Given the description of an element on the screen output the (x, y) to click on. 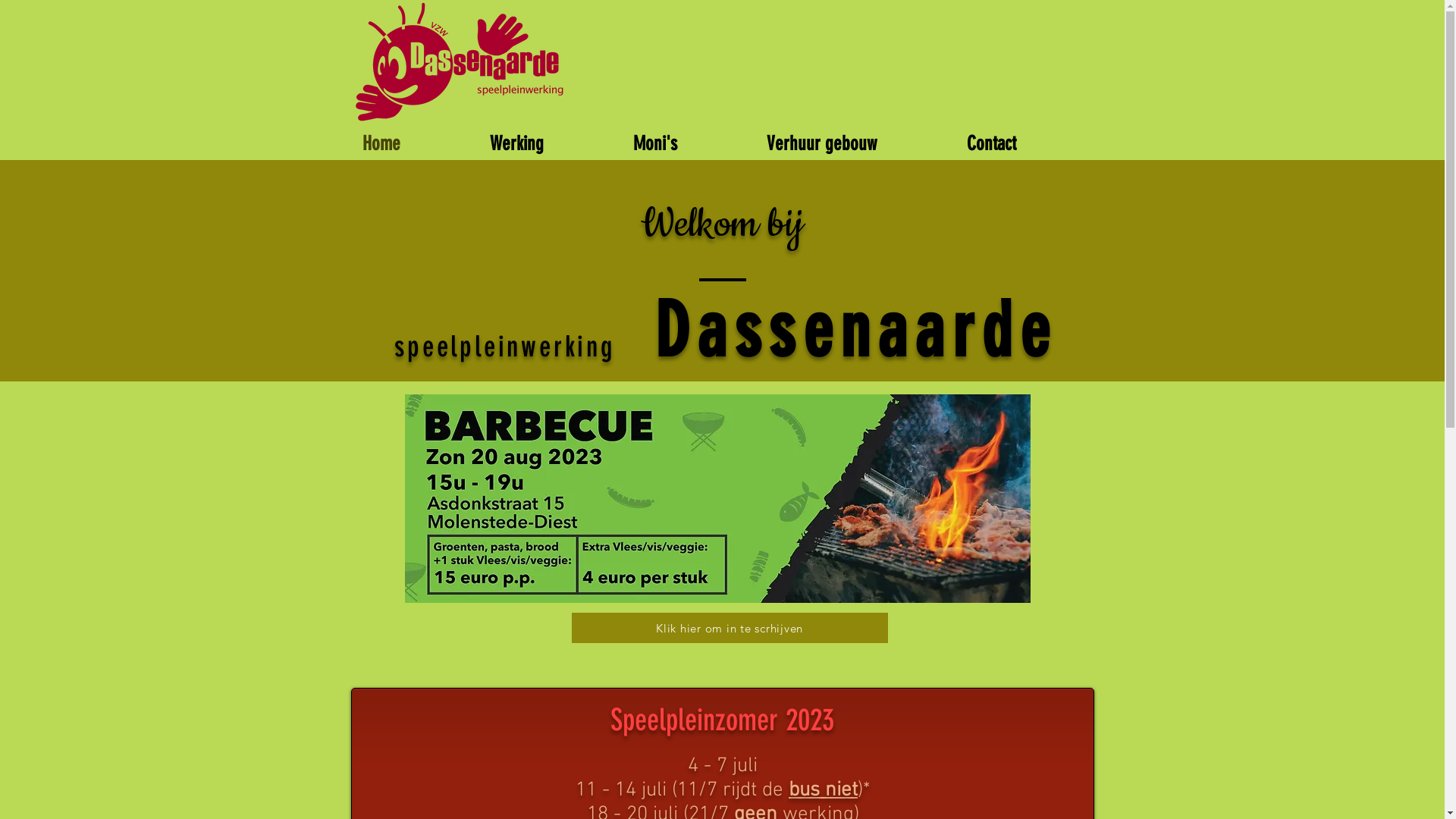
Home Element type: text (413, 139)
Contact Element type: text (1024, 139)
Klik hier om in te scrhijven Element type: text (729, 627)
Verhuur gebouw Element type: text (855, 139)
